Given the description of an element on the screen output the (x, y) to click on. 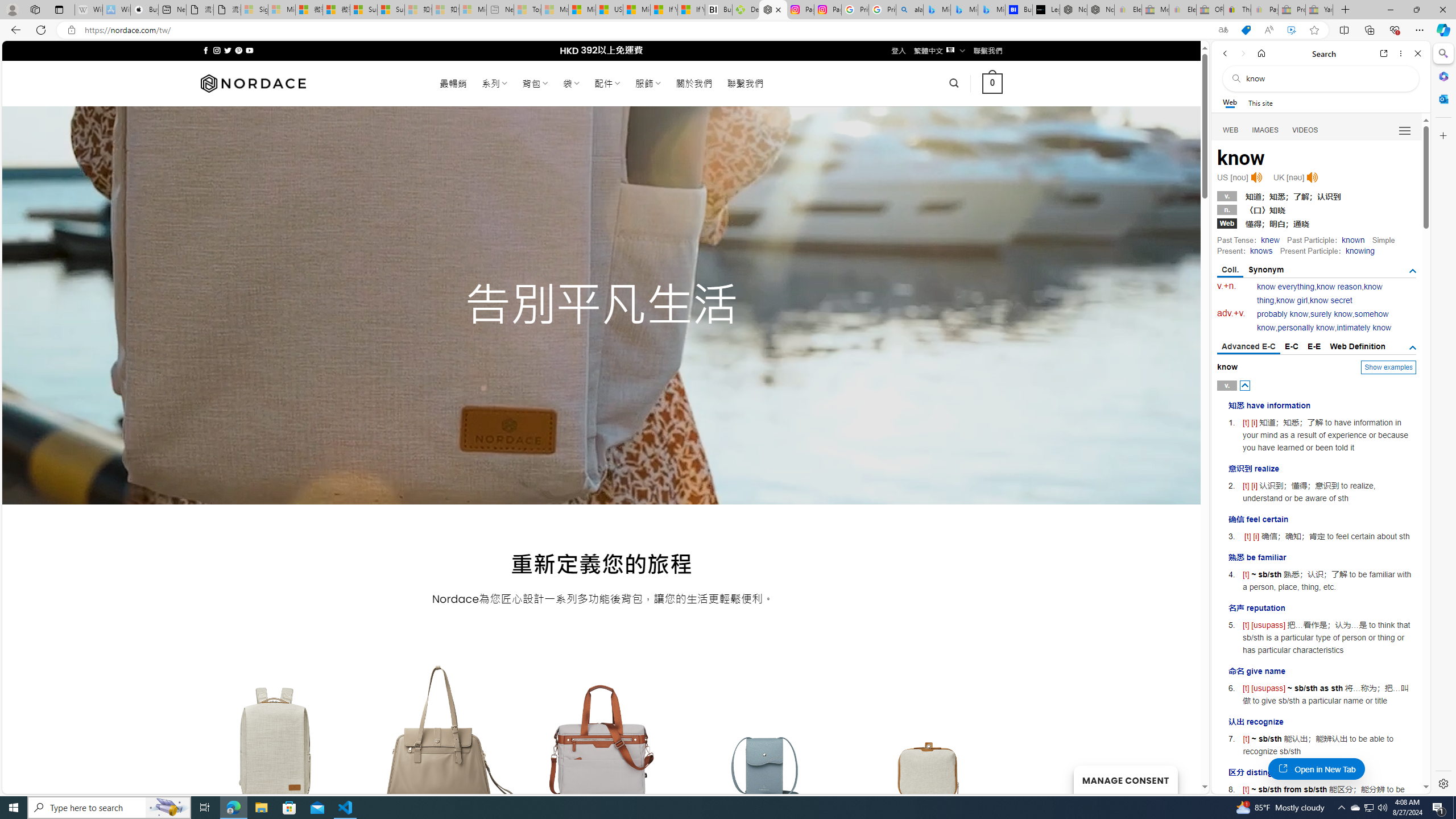
Click to listen (1312, 177)
alabama high school quarterback dies - Search (909, 9)
E-E (1314, 345)
Microsoft Bing Travel - Flights from Hong Kong to Bangkok (936, 9)
Enhance video (1291, 29)
know everything (1285, 286)
